Given the description of an element on the screen output the (x, y) to click on. 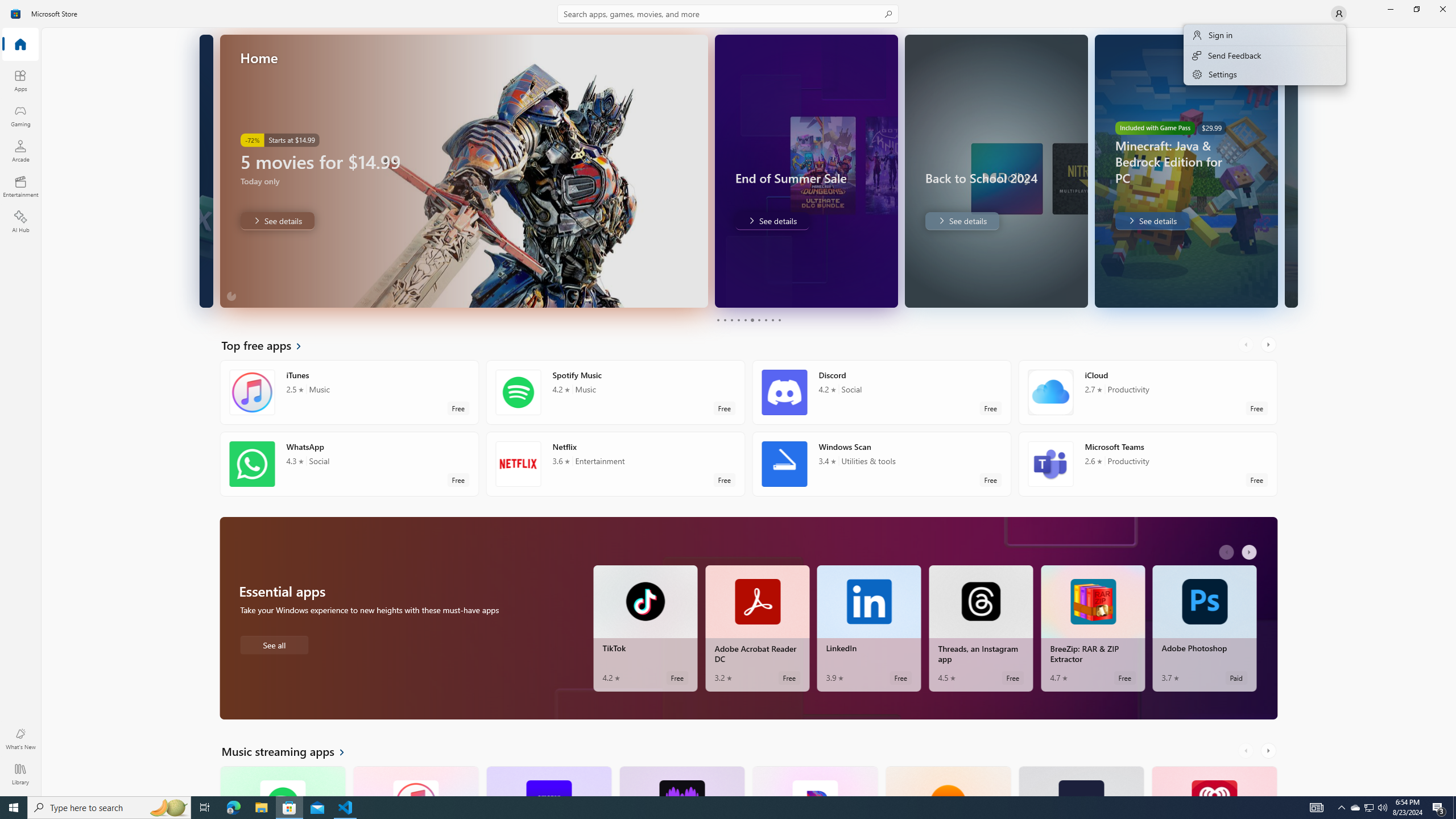
Page 7 (758, 319)
Page 3 (731, 319)
End of Summer Sale. Save up to 80%.  . See details (771, 221)
iTunes. Average rating of 2.5 out of five stars. Free   (415, 780)
WhatsApp. Average rating of 4.3 out of five stars. Free   (349, 463)
See all  Top free apps (268, 345)
Page 9 (772, 319)
